Given the description of an element on the screen output the (x, y) to click on. 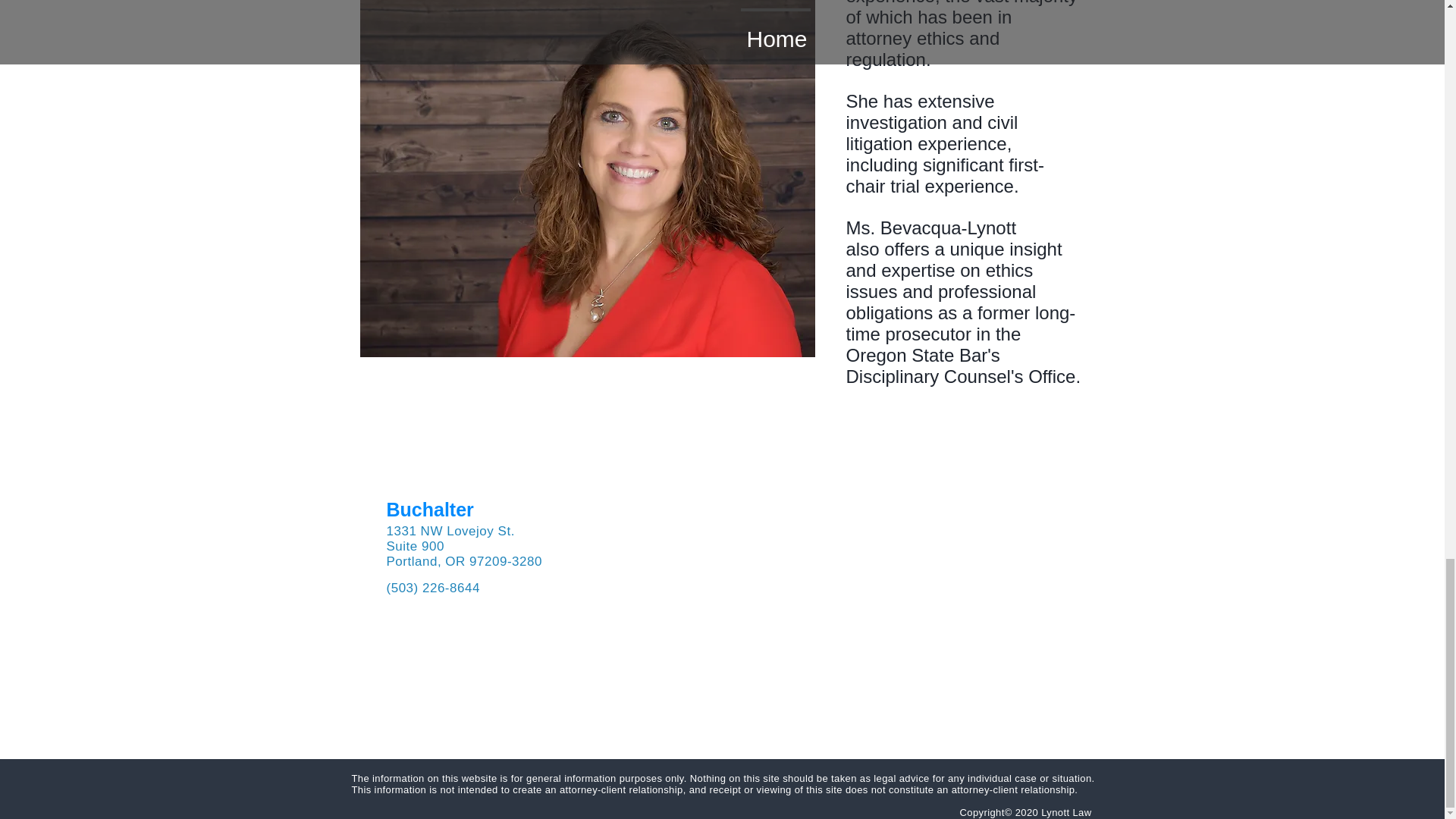
Buchalter (430, 509)
